Given the description of an element on the screen output the (x, y) to click on. 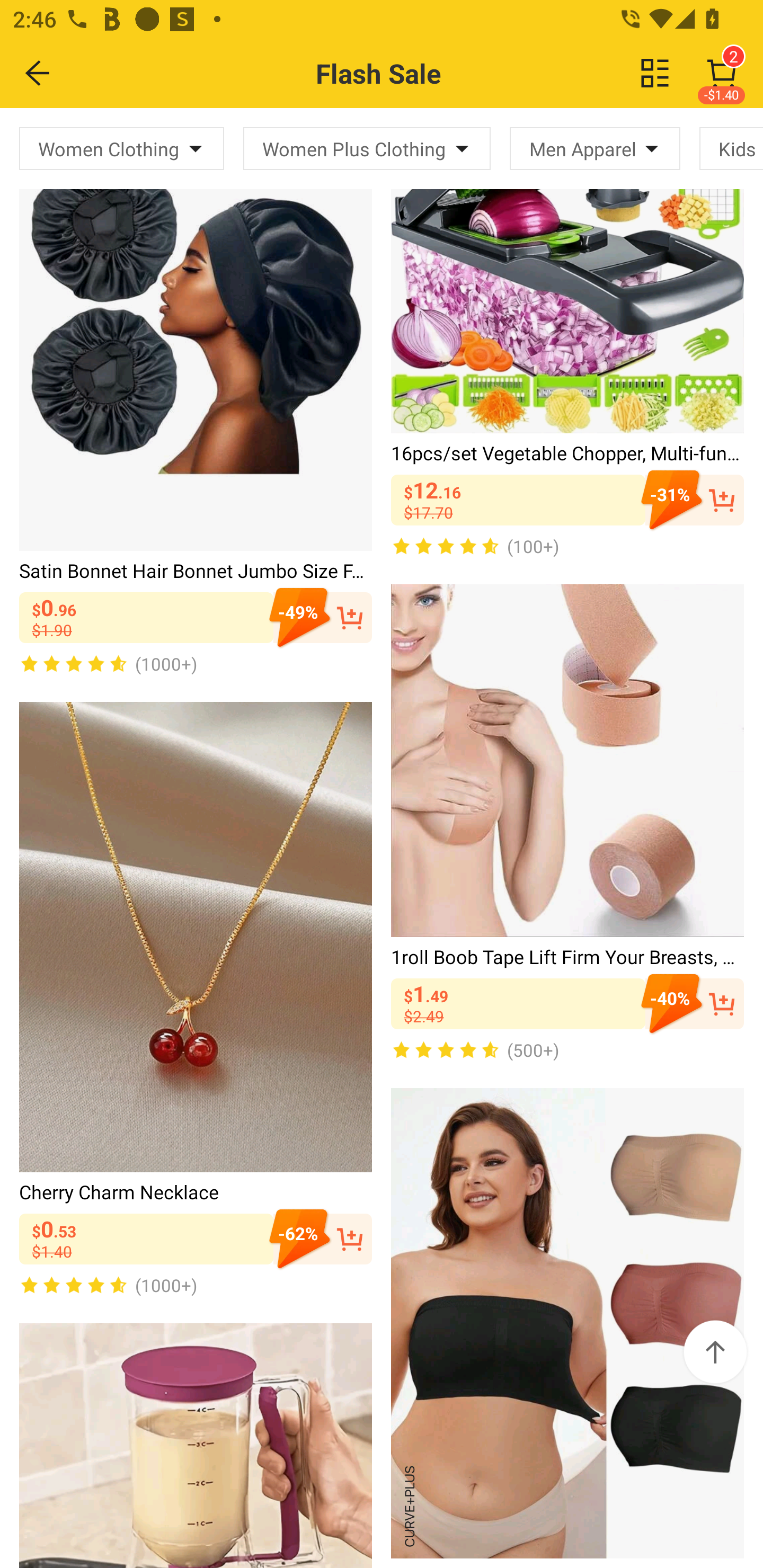
Flash Sale change view 2 -$1.40 (419, 72)
2 -$1.40 (721, 72)
change view (654, 72)
BACK (38, 72)
Women Clothing (121, 148)
Women Plus Clothing (366, 148)
Men Apparel (594, 148)
Back to top (714, 1351)
